Given the description of an element on the screen output the (x, y) to click on. 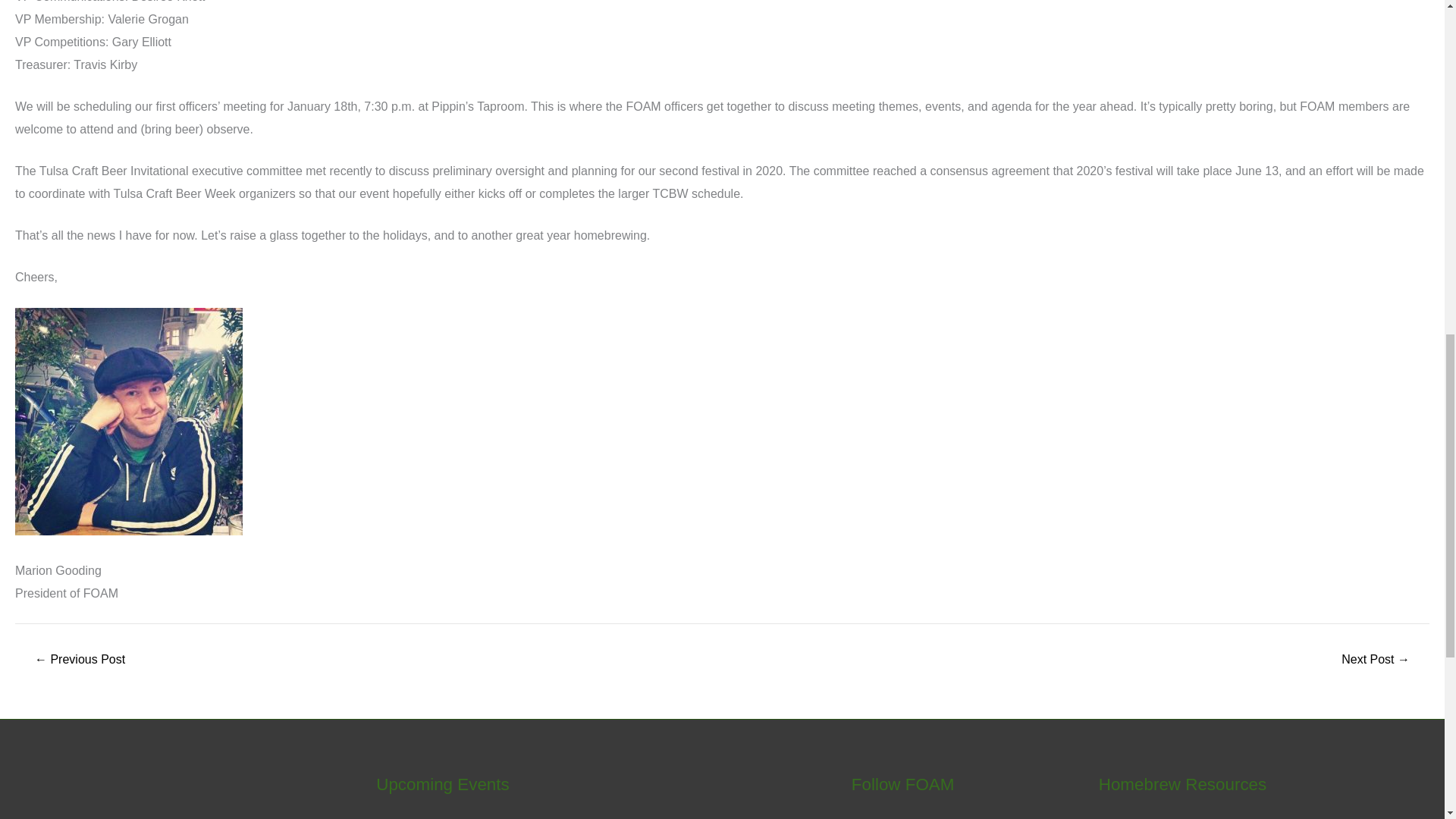
FOAM Christmas Party! (1375, 659)
Upcoming competition season - information and dates (79, 659)
